Given the description of an element on the screen output the (x, y) to click on. 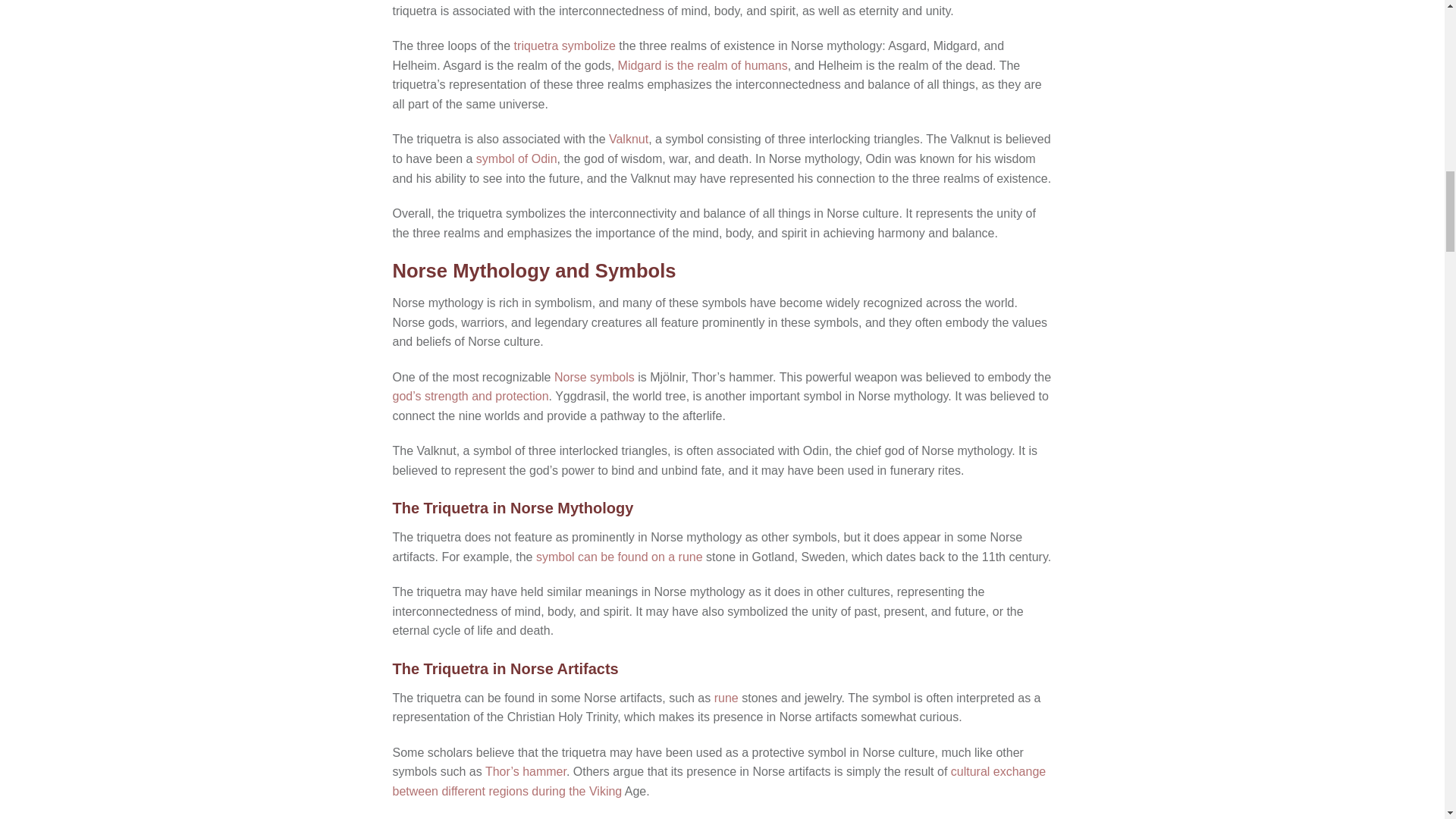
rune (726, 697)
